Given the description of an element on the screen output the (x, y) to click on. 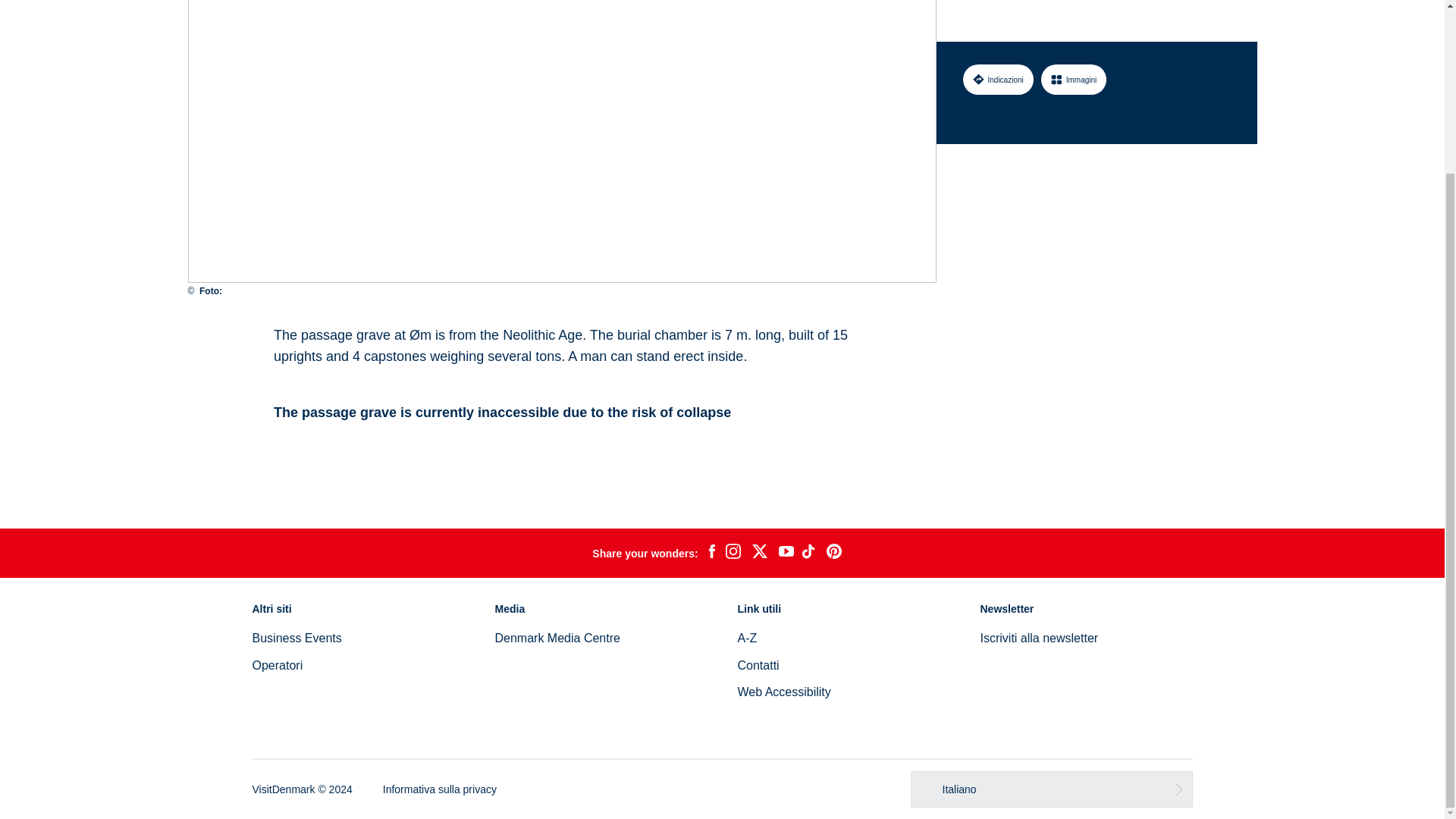
Contatti (757, 665)
Web Accessibility (782, 691)
A-Z (746, 637)
Web Accessibility (782, 691)
Informativa sulla privacy (439, 789)
pinterest (834, 553)
Operatori (276, 665)
Business Events (295, 637)
Denmark Media Centre (557, 637)
twitter (759, 553)
